Given the description of an element on the screen output the (x, y) to click on. 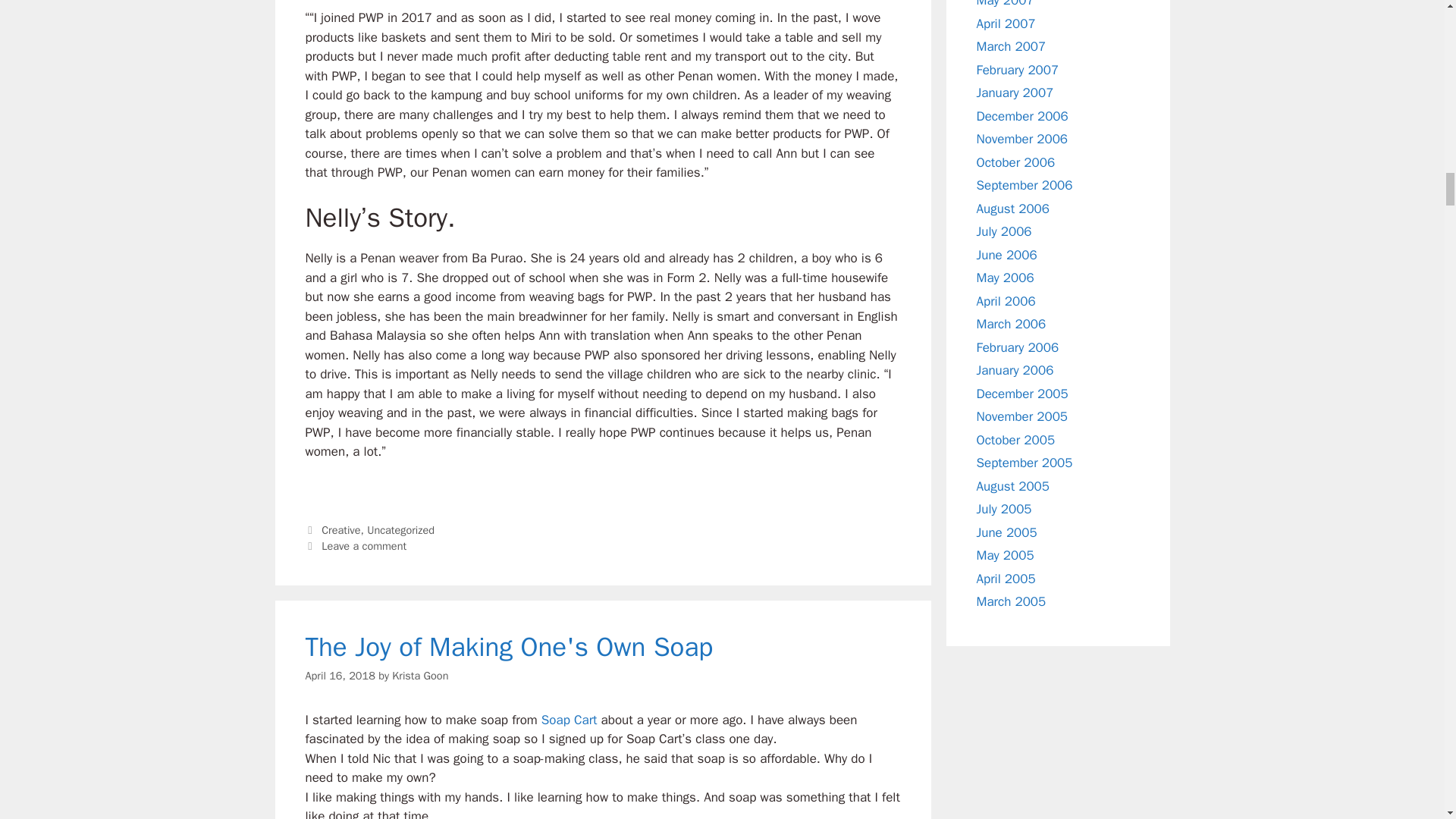
Krista Goon (419, 675)
Uncategorized (399, 530)
View all posts by Krista Goon (419, 675)
Creative (340, 530)
Soap Cart (566, 719)
The Joy of Making One's Own Soap (508, 646)
Leave a comment (363, 545)
